Given the description of an element on the screen output the (x, y) to click on. 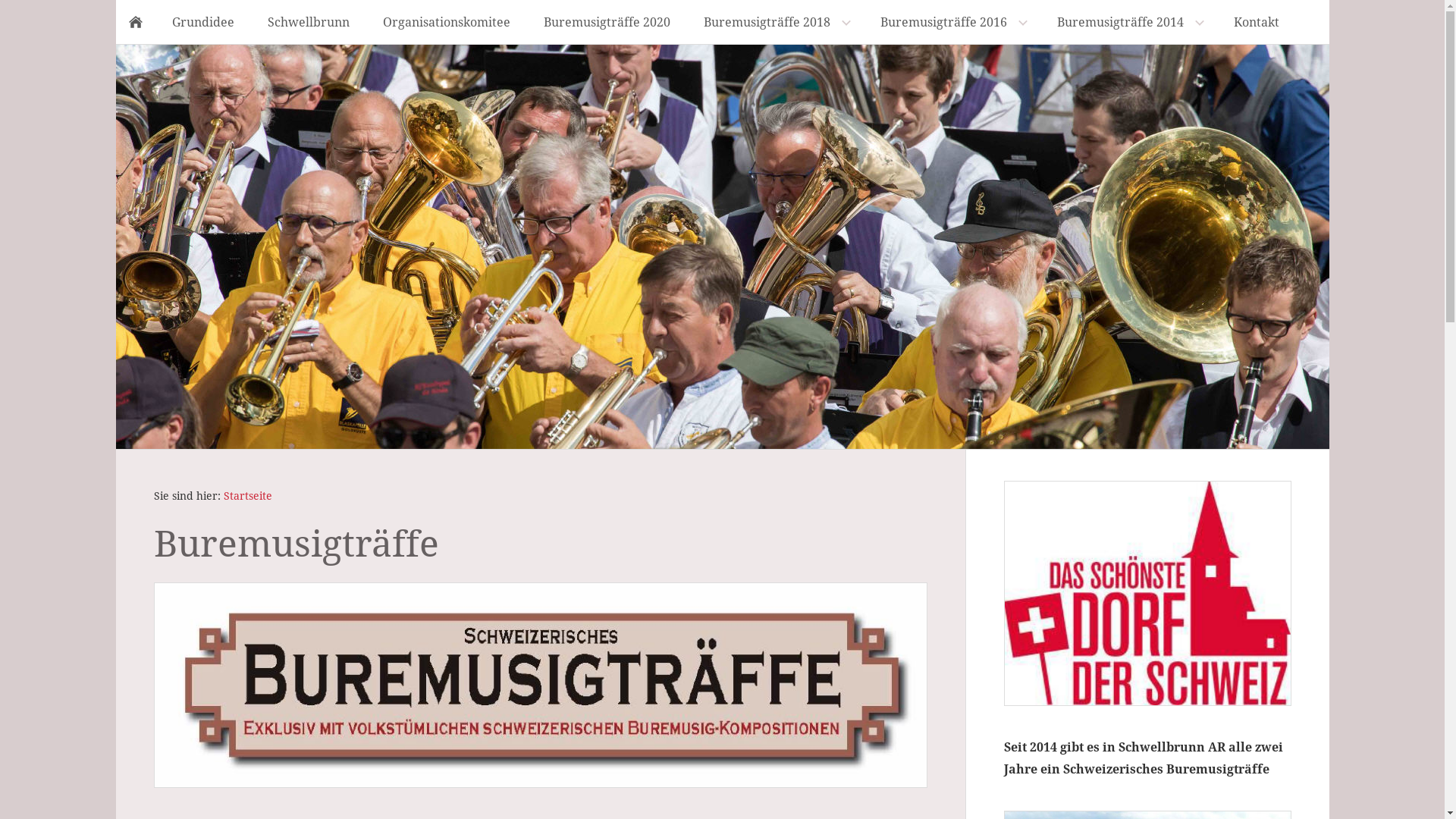
Organisationskomitee Element type: text (445, 21)
Startseite Element type: text (246, 495)
Schwellbrunn Element type: text (307, 21)
Grundidee Element type: text (202, 21)
Kontakt Element type: text (1255, 21)
